Given the description of an element on the screen output the (x, y) to click on. 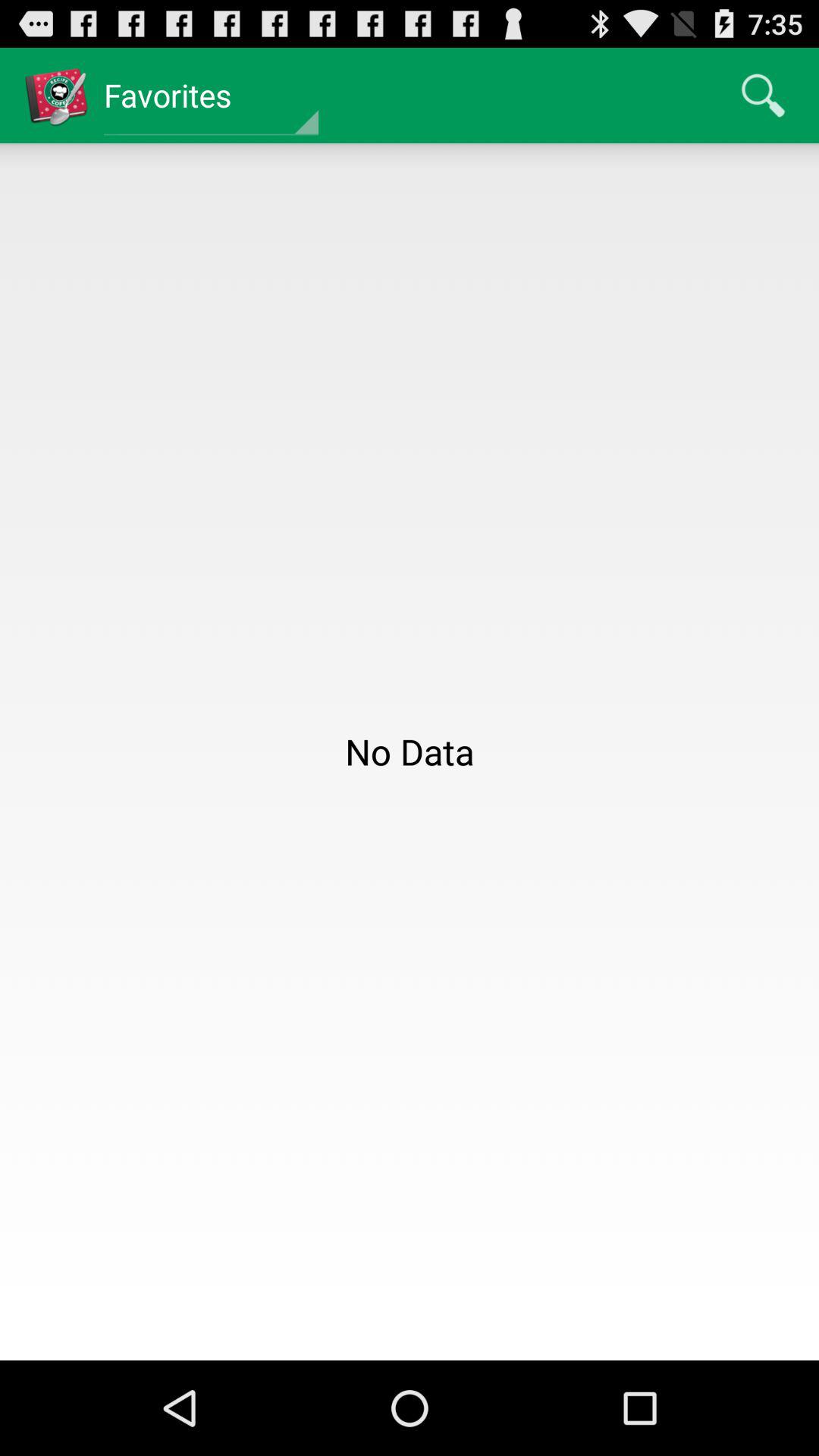
turn on app to the right of the favorites app (763, 95)
